Given the description of an element on the screen output the (x, y) to click on. 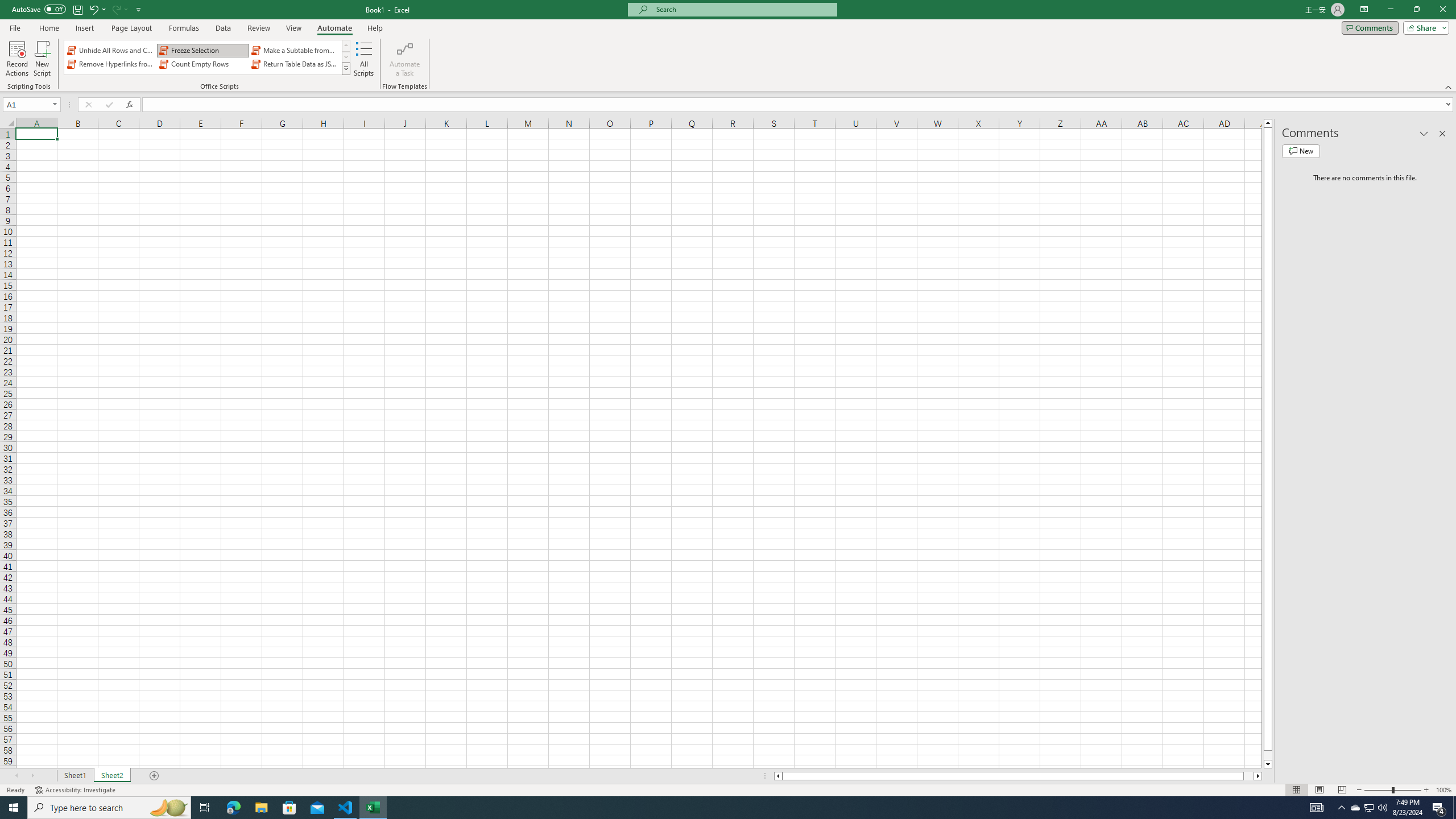
Sheet2 (112, 775)
Count Empty Rows (202, 64)
Microsoft search (742, 9)
Formula Bar (799, 104)
Unhide All Rows and Columns (111, 50)
